Given the description of an element on the screen output the (x, y) to click on. 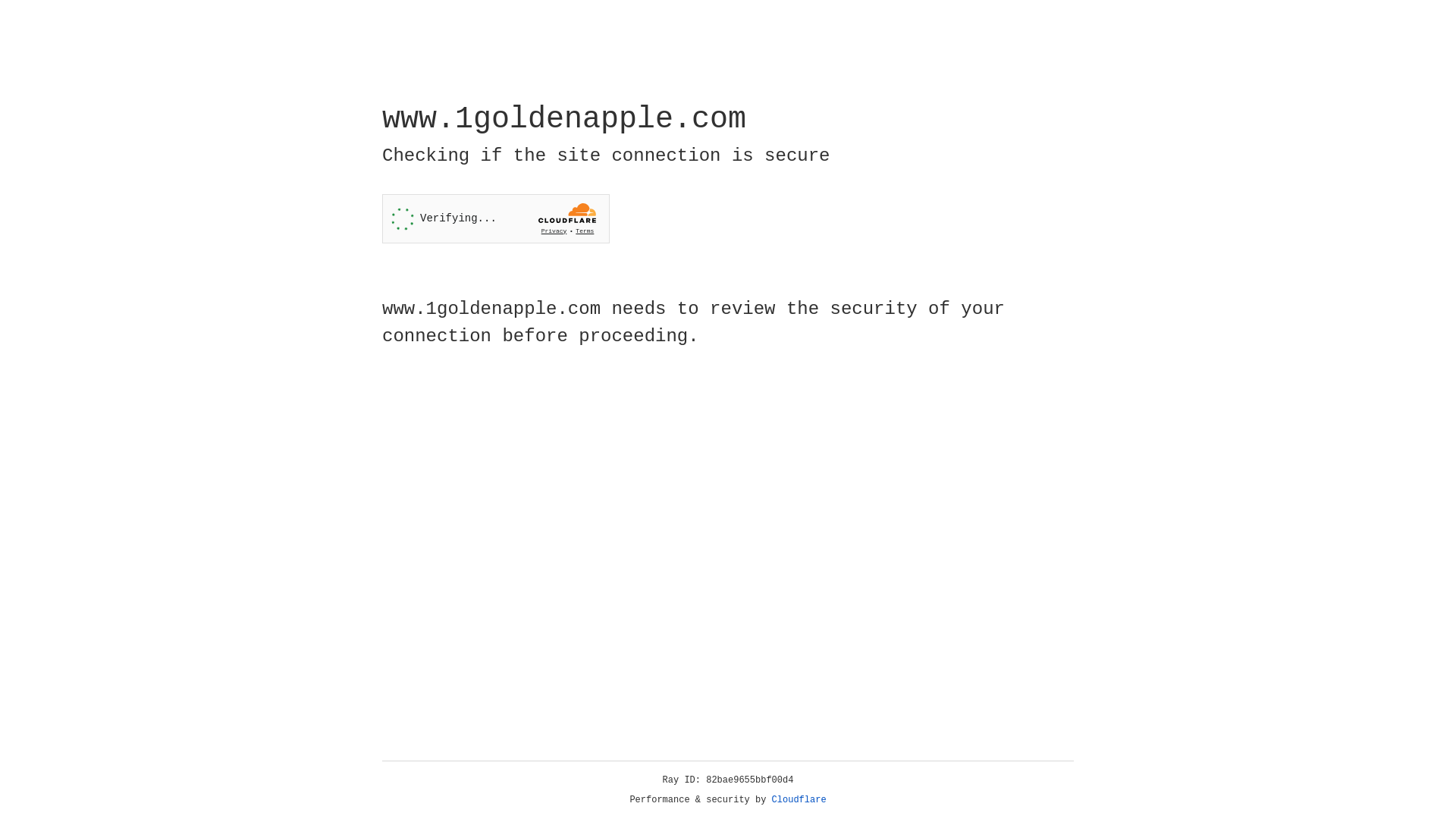
Widget containing a Cloudflare security challenge Element type: hover (495, 218)
Cloudflare Element type: text (798, 799)
